Given the description of an element on the screen output the (x, y) to click on. 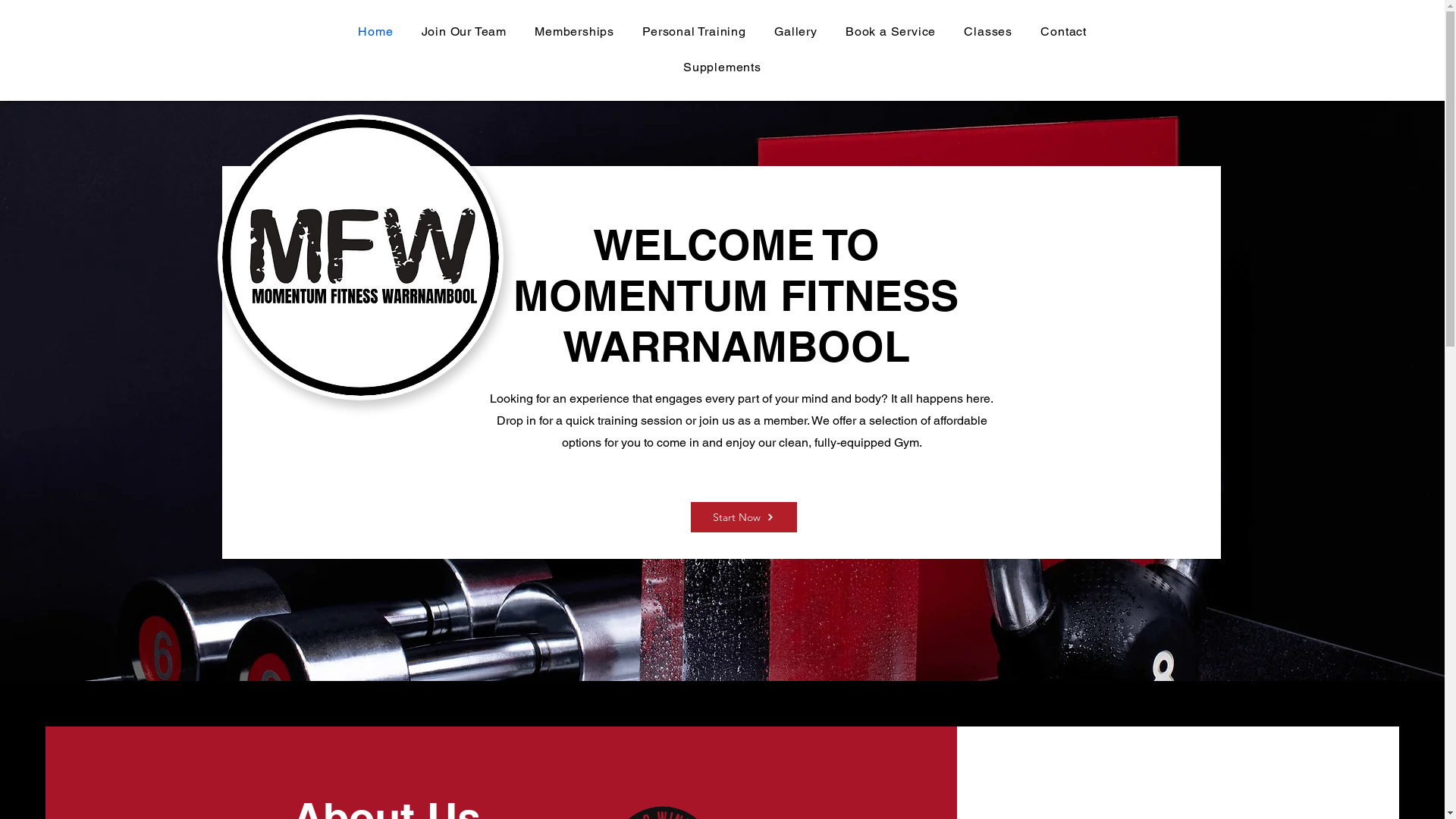
Join Our Team Element type: text (463, 31)
Contact Element type: text (1063, 31)
Supplements Element type: text (722, 66)
Gallery Element type: text (795, 31)
Book a Service Element type: text (890, 31)
Start Now Element type: text (743, 517)
Personal Training Element type: text (694, 31)
Memberships Element type: text (574, 31)
Classes Element type: text (988, 31)
Home Element type: text (375, 31)
